Given the description of an element on the screen output the (x, y) to click on. 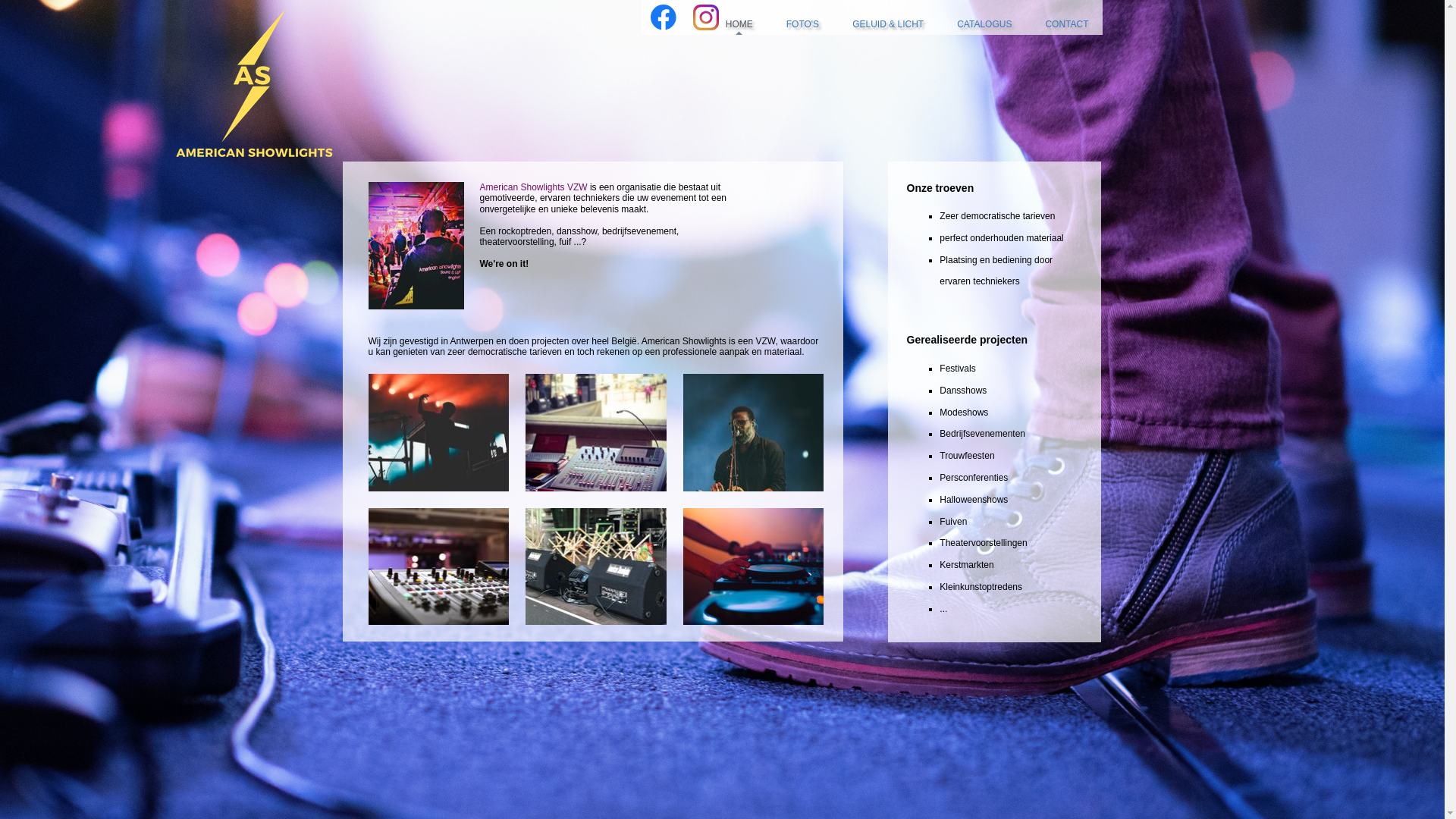
austin-neill-_uzJEiPETvY-unsplash Element type: hover (753, 432)
chris-leipelt-iJunkwqig5c-unsplash Element type: hover (438, 432)
FOTO'S Element type: text (802, 26)
D3FE2975-A393-4ACE-A31A-2604AE92501D Element type: hover (595, 432)
jorik-kleen-iKuT7niw8vE-unsplash Element type: hover (753, 566)
mitchell-leach-adMep4C9dC0-unsplash Element type: hover (438, 566)
CATALOGUS Element type: text (984, 26)
HOME Element type: text (739, 26)
GELUID & LICHT Element type: text (887, 26)
CONTACT Element type: text (1066, 26)
IMG_2811 Element type: hover (595, 566)
